Given the description of an element on the screen output the (x, y) to click on. 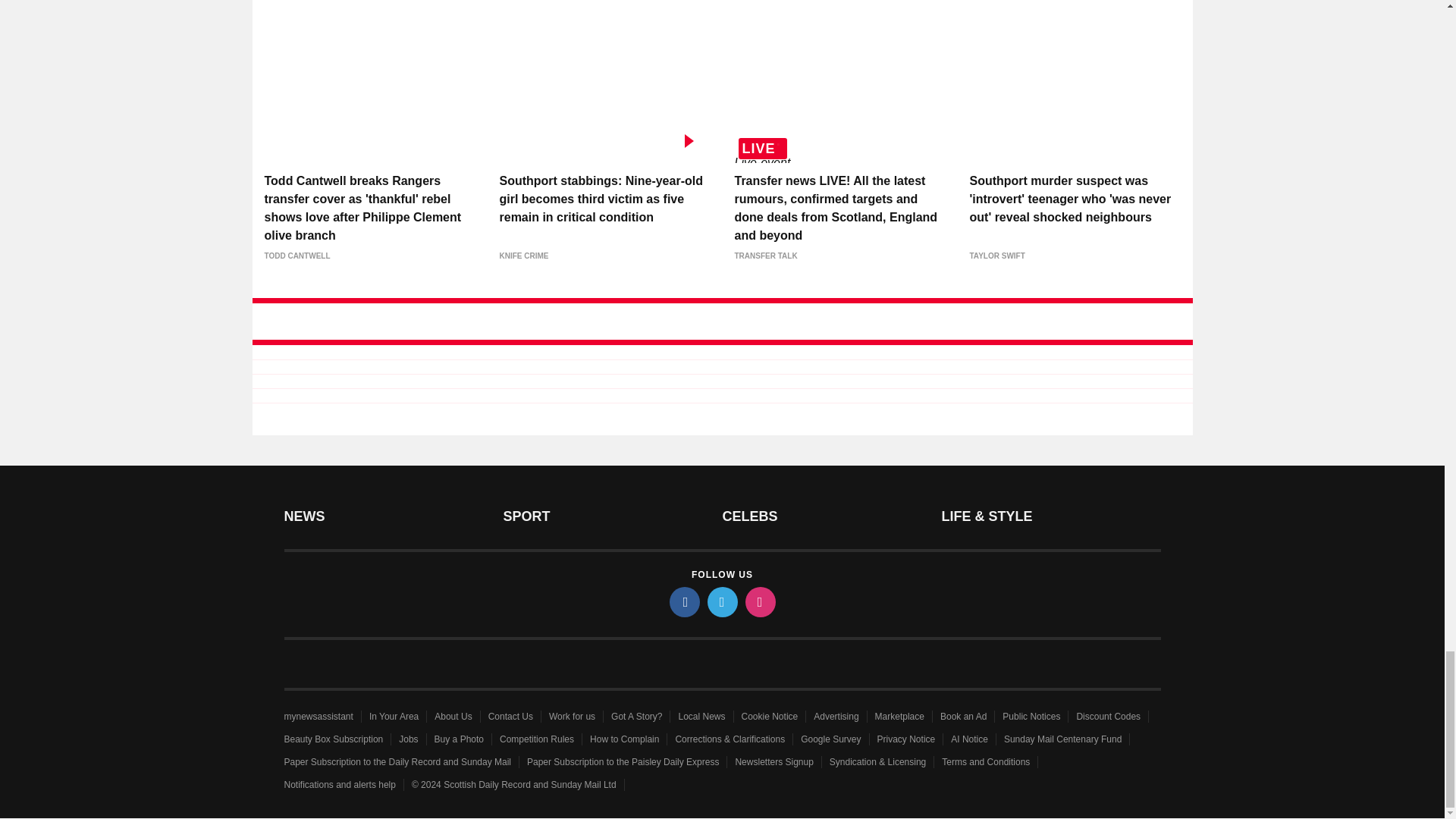
twitter (721, 602)
facebook (683, 602)
instagram (759, 602)
